Given the description of an element on the screen output the (x, y) to click on. 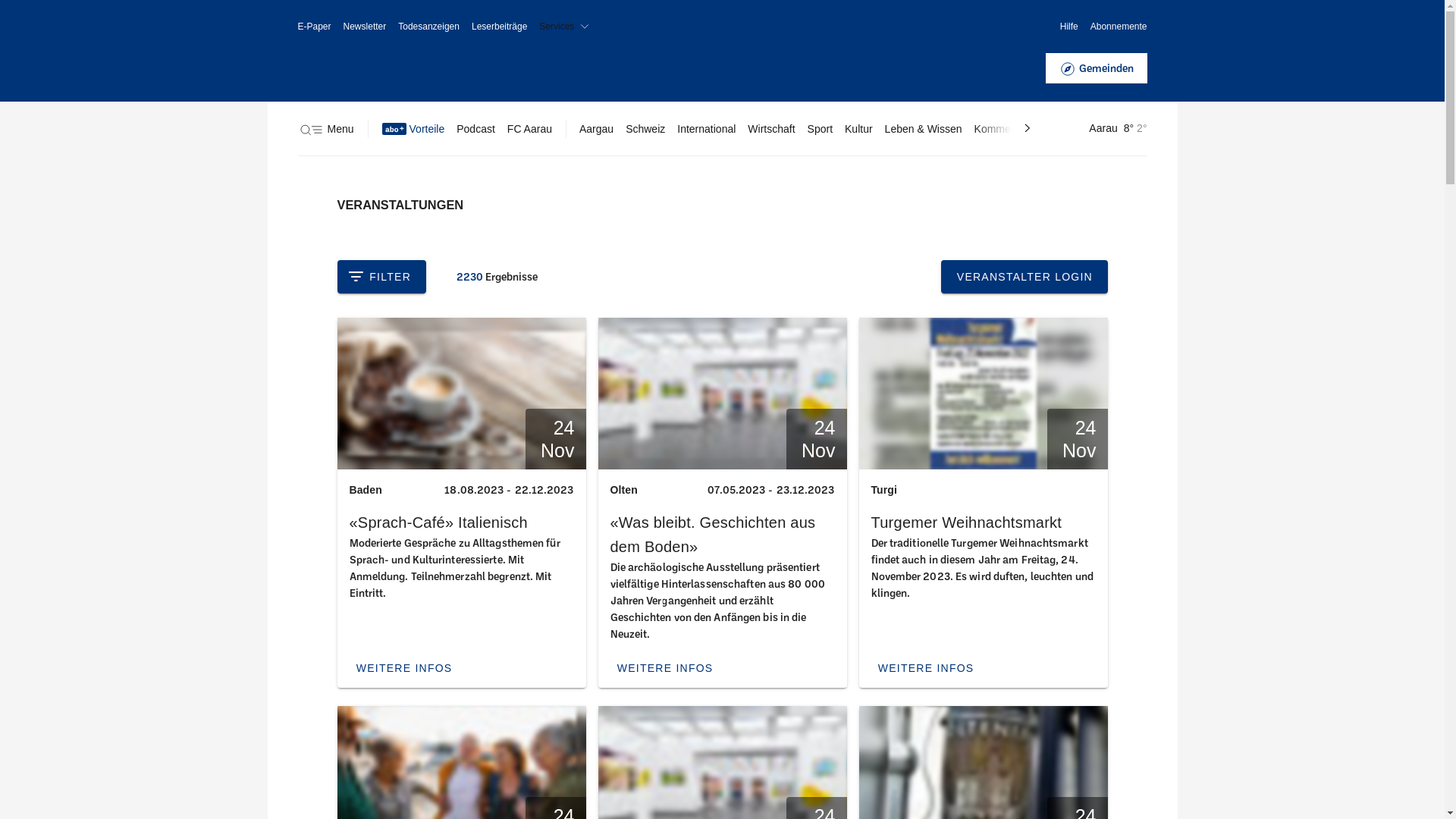
Newsletter Element type: text (364, 26)
Aargau Element type: text (596, 128)
FILTER Element type: text (380, 276)
International Element type: text (706, 128)
E-Paper Element type: text (313, 26)
Wirtschaft Element type: text (770, 128)
Leben & Wissen Element type: text (923, 128)
Sport Element type: text (819, 128)
FC Aarau Element type: text (529, 128)
Todesanzeigen Element type: text (428, 26)
Vorteile Element type: text (413, 128)
Gemeinden Element type: text (1095, 68)
Kommentare Element type: text (1004, 128)
Abonnemente Element type: text (1118, 26)
Menu Element type: text (325, 128)
Kultur Element type: text (858, 128)
Services Element type: text (567, 26)
Podcast Element type: text (475, 128)
VERANSTALTER LOGIN Element type: text (1024, 276)
Hilfe Element type: text (1069, 26)
Schweiz Element type: text (645, 128)
